Given the description of an element on the screen output the (x, y) to click on. 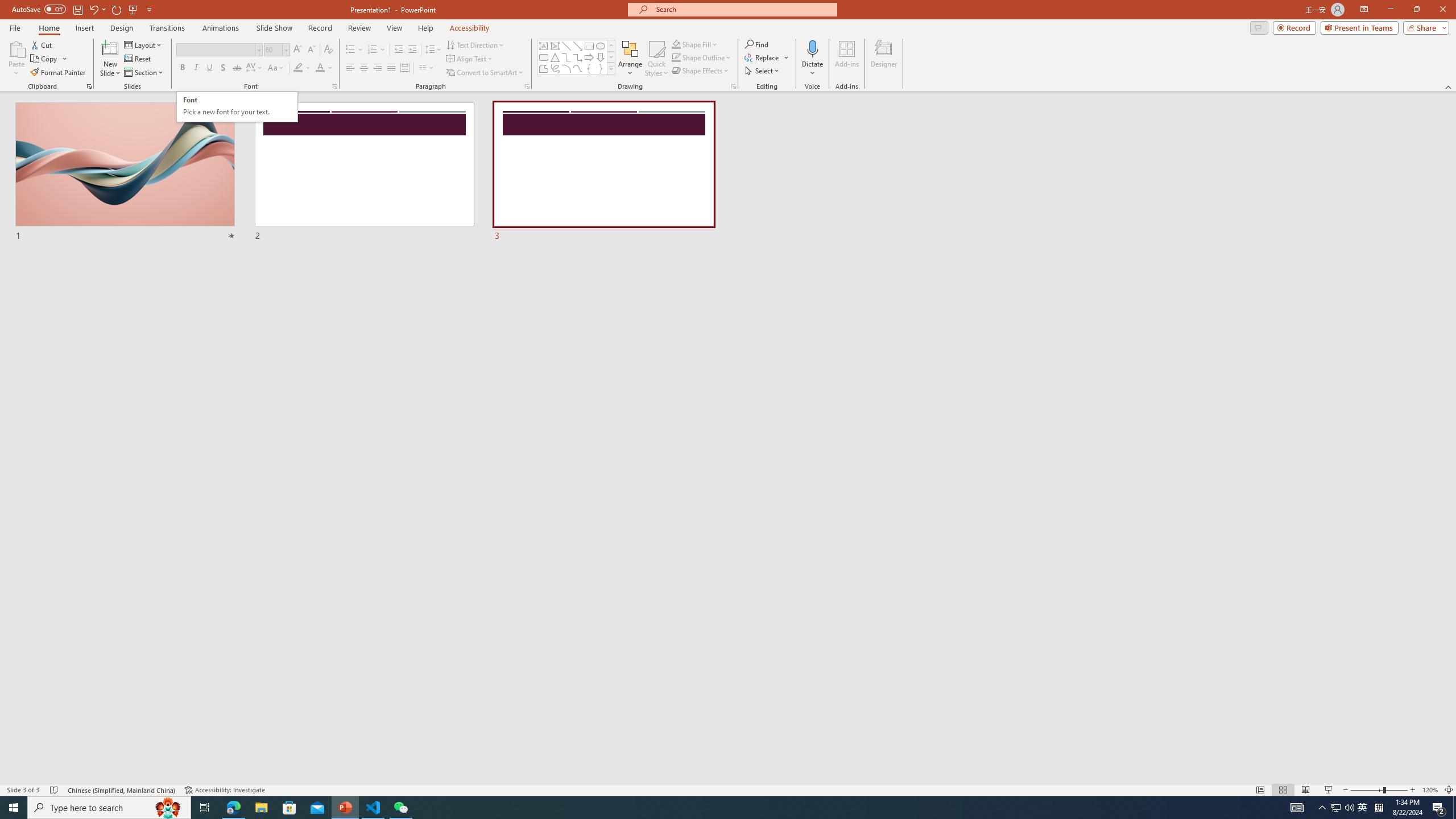
Shape Effects (700, 69)
Shape Fill Orange, Accent 2 (675, 44)
